Given the description of an element on the screen output the (x, y) to click on. 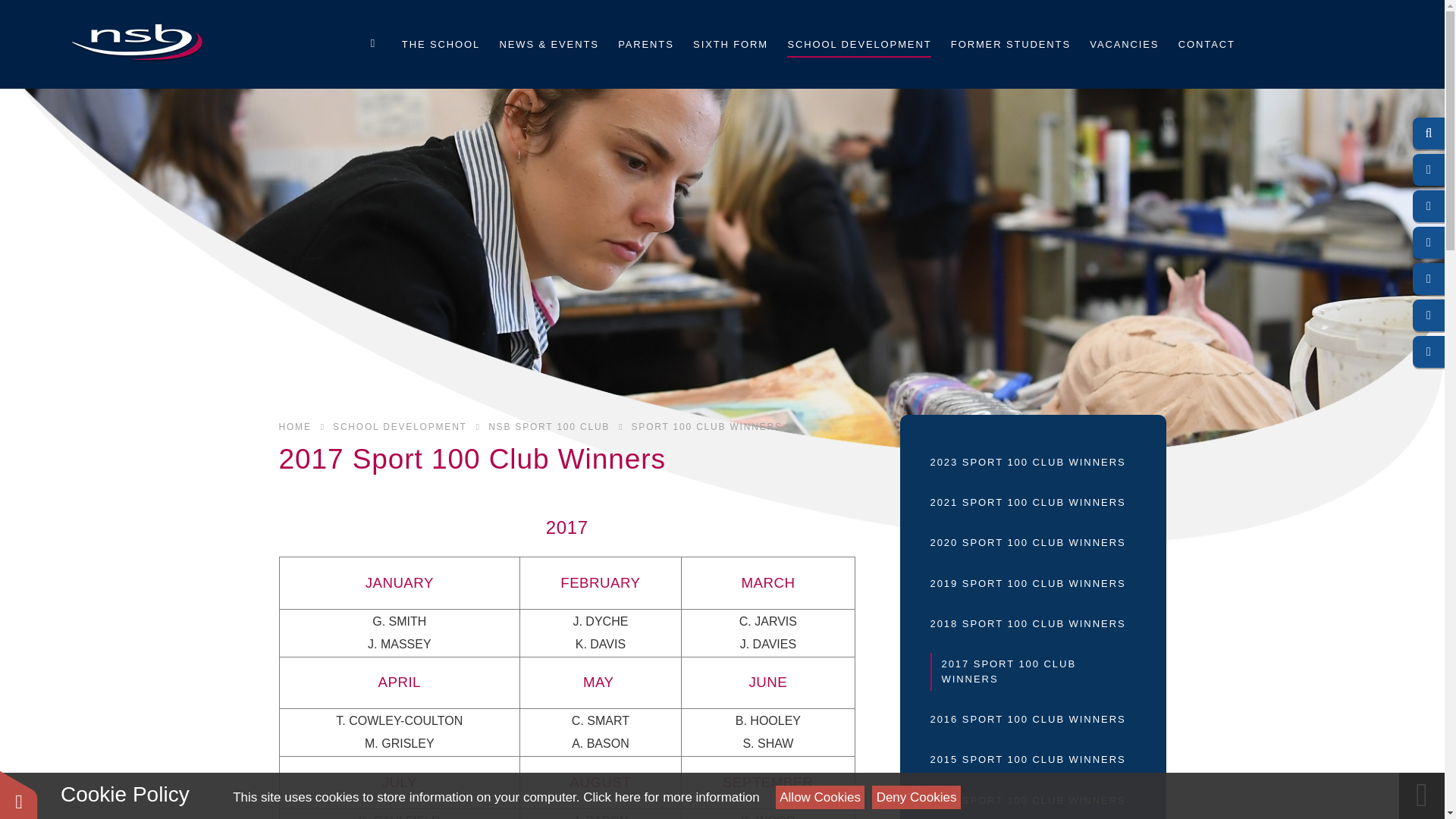
Allow Cookies (820, 797)
THE SCHOOL (440, 43)
See cookie policy (670, 797)
Deny Cookies (915, 797)
